Given the description of an element on the screen output the (x, y) to click on. 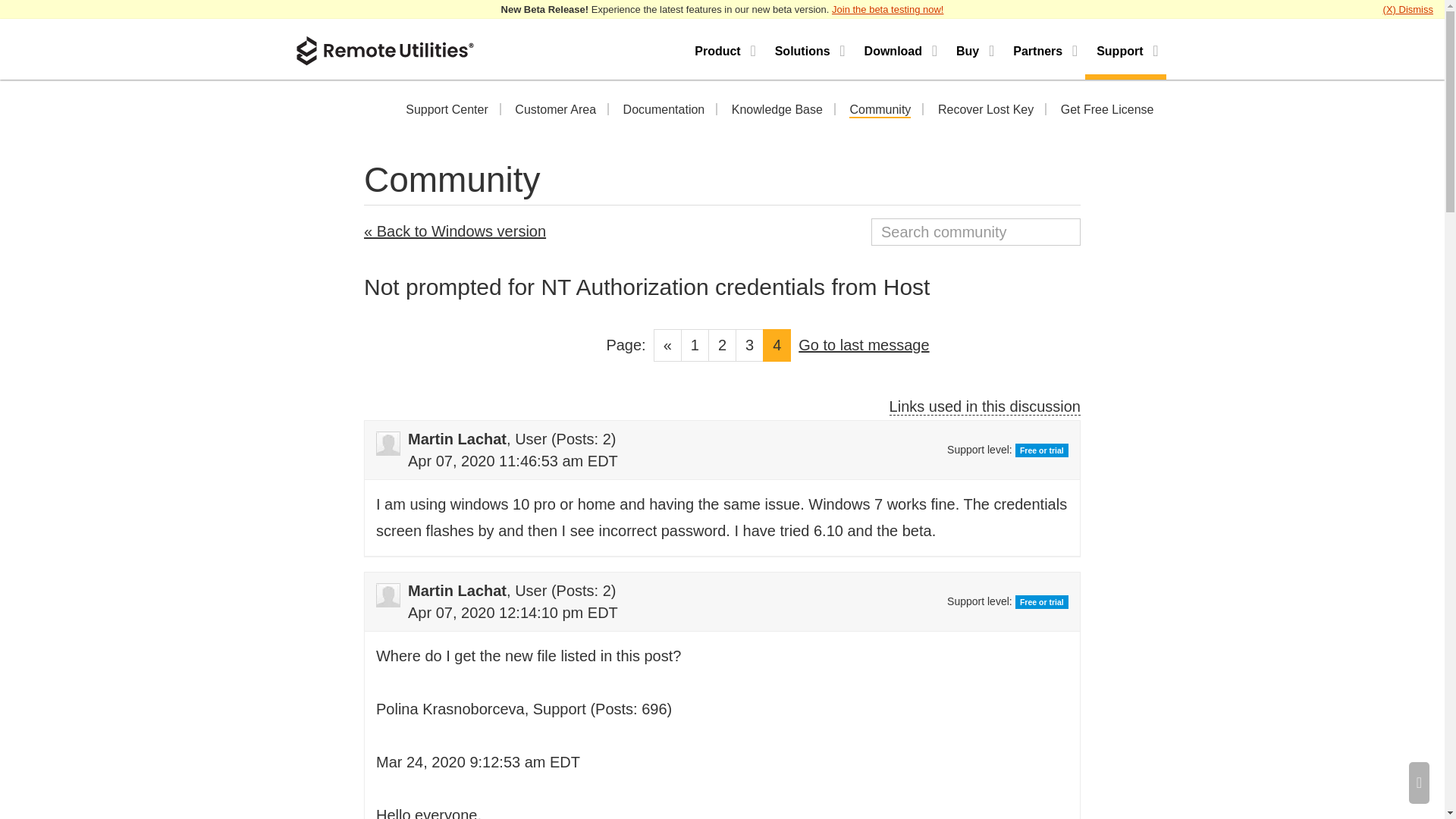
Download (898, 48)
Join the beta testing now! (887, 9)
Product (722, 48)
Buy (972, 48)
Support Center (446, 110)
Solutions (807, 48)
Partners (1042, 48)
Support (1125, 48)
